Given the description of an element on the screen output the (x, y) to click on. 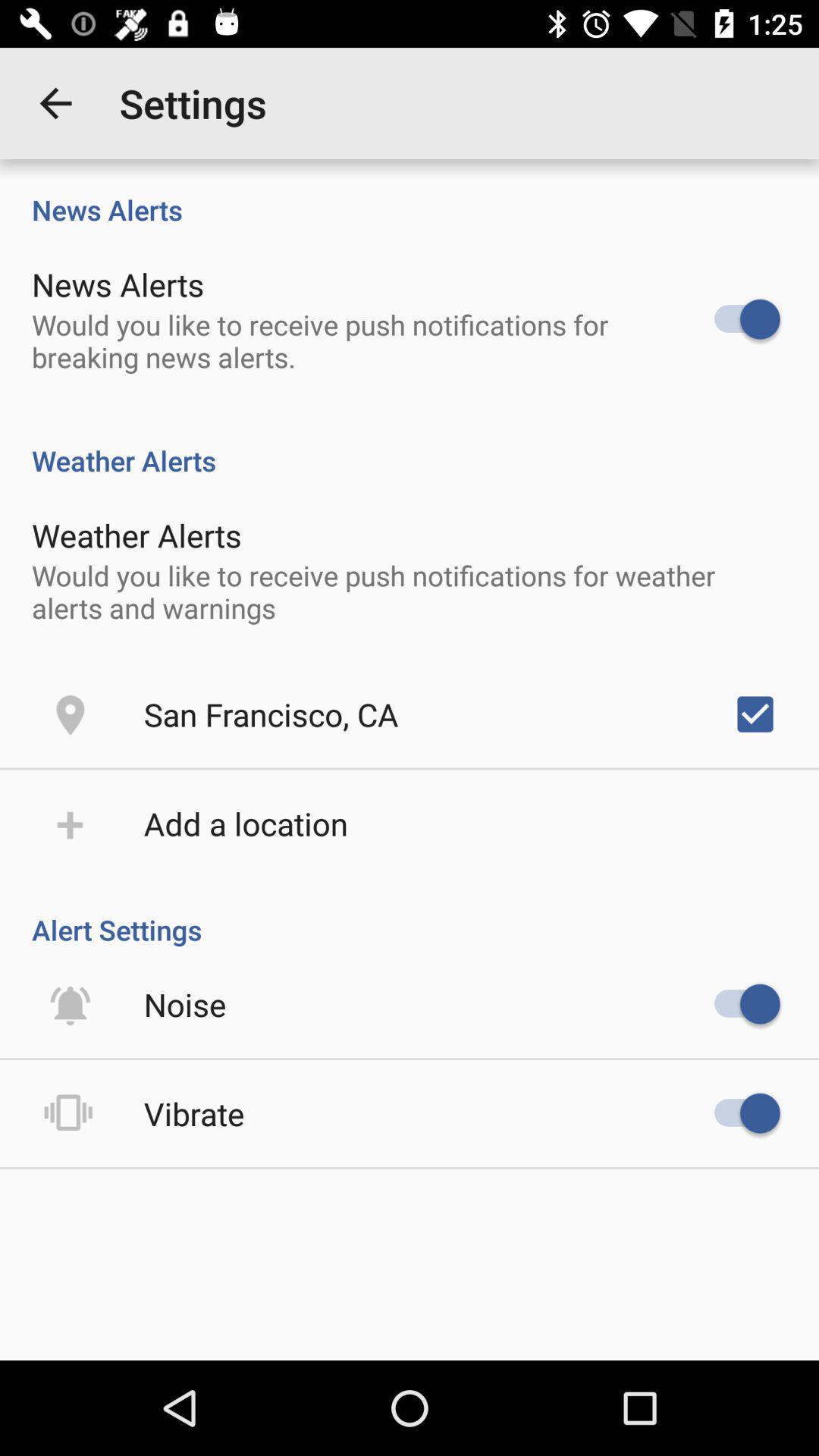
select item below san francisco, ca icon (245, 823)
